Given the description of an element on the screen output the (x, y) to click on. 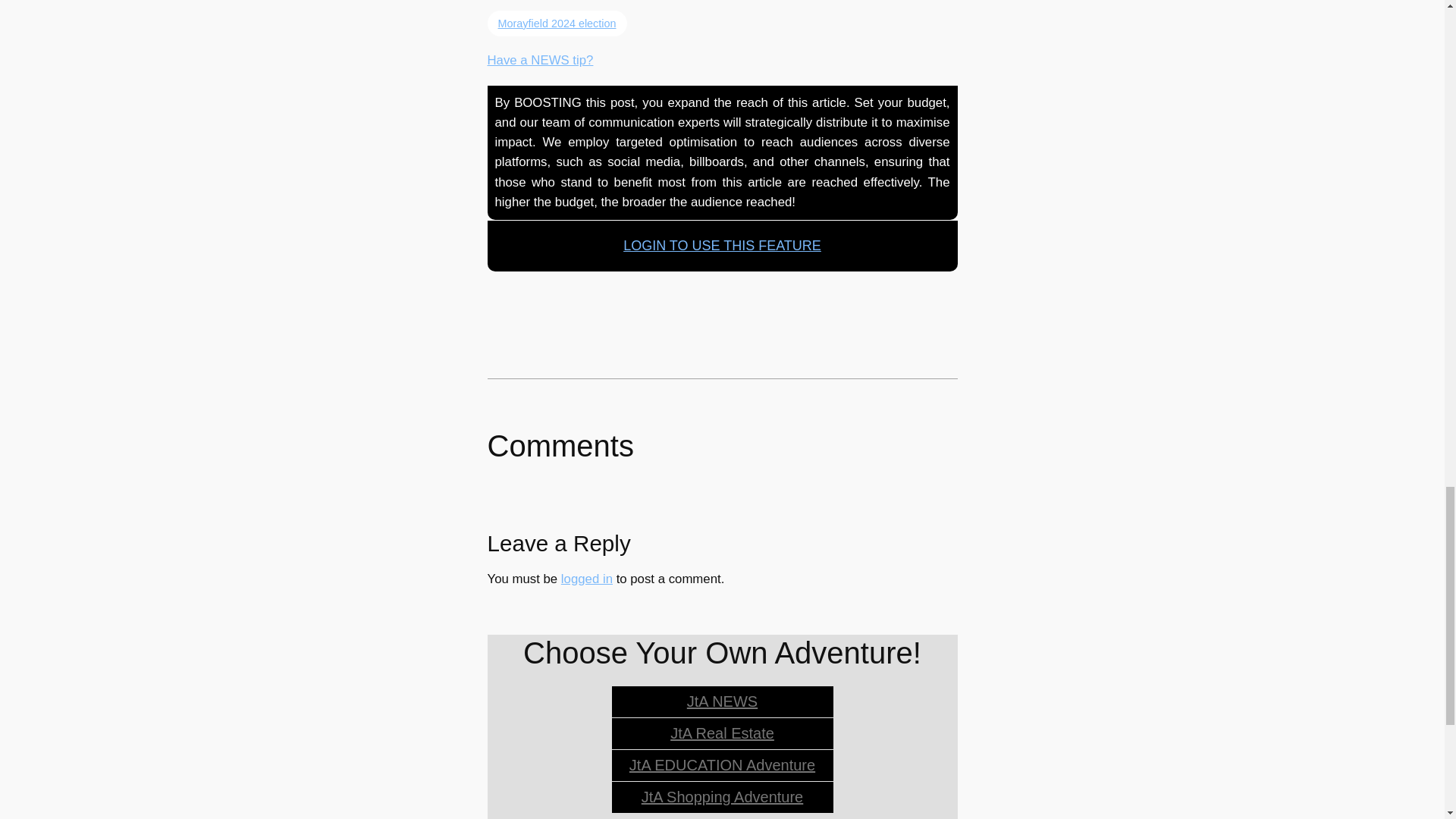
LOGIN TO USE THIS FEATURE (722, 246)
Morayfield 2024 election (556, 23)
Have a NEWS tip? (539, 60)
logged in (586, 578)
